Given the description of an element on the screen output the (x, y) to click on. 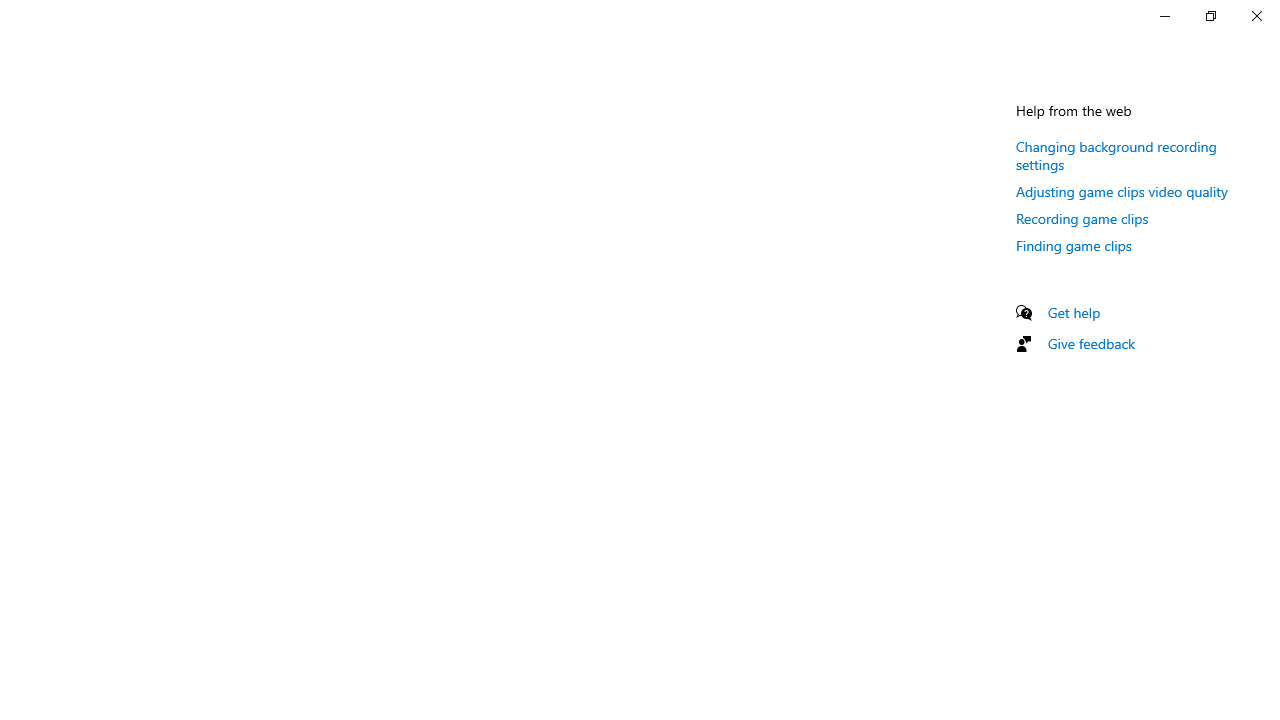
Adjusting game clips video quality (1121, 191)
Changing background recording settings (1116, 155)
Recording game clips (1082, 218)
Finding game clips (1073, 245)
